Given the description of an element on the screen output the (x, y) to click on. 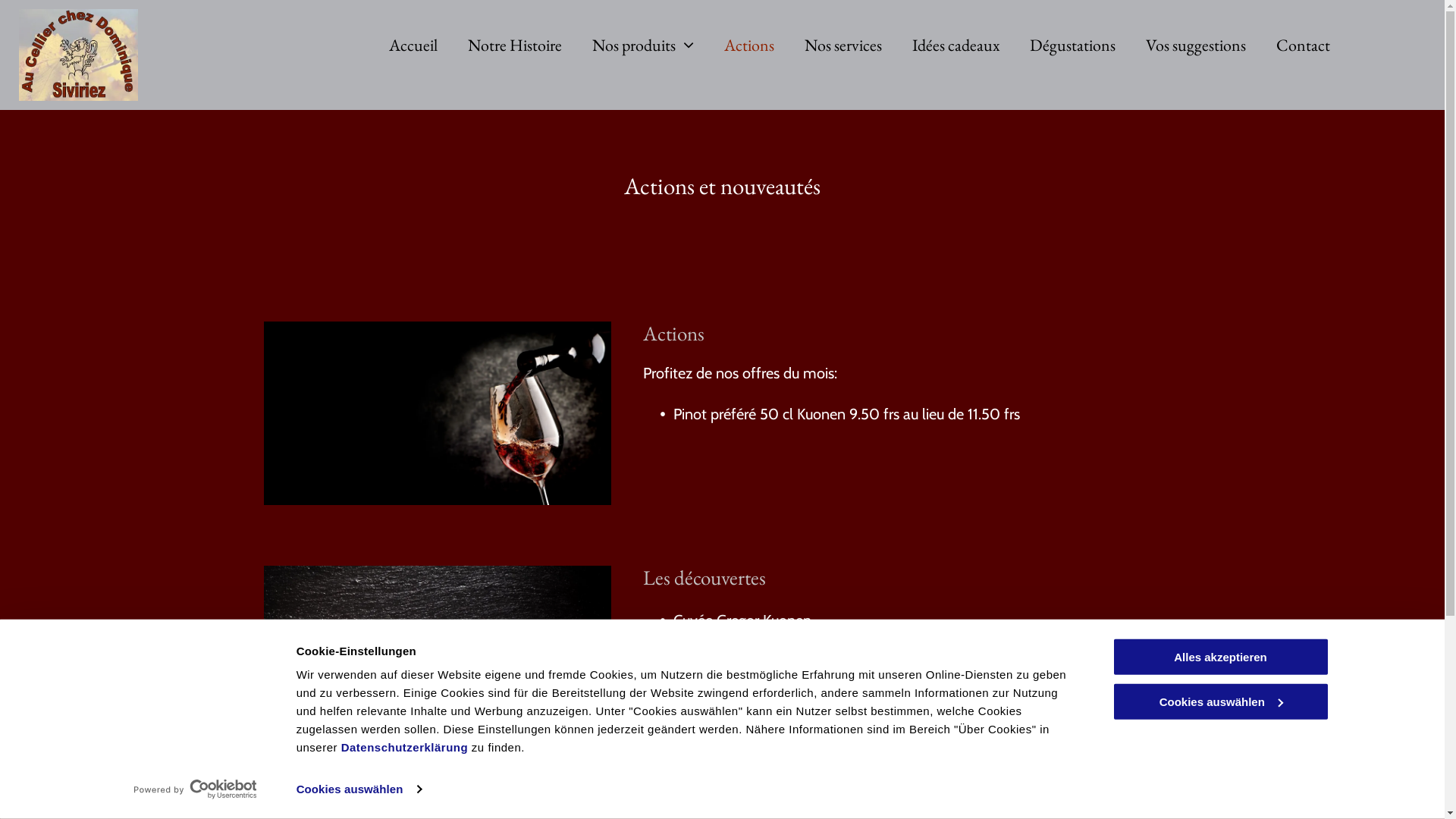
Vos suggestions Element type: text (1195, 44)
Alles akzeptieren Element type: text (1219, 656)
Accueil Element type: text (413, 44)
Contact Element type: text (1303, 44)
Actions Element type: text (749, 44)
Nos produits Element type: text (642, 44)
Nos services Element type: text (842, 44)
Notre Histoire Element type: text (514, 44)
